Given the description of an element on the screen output the (x, y) to click on. 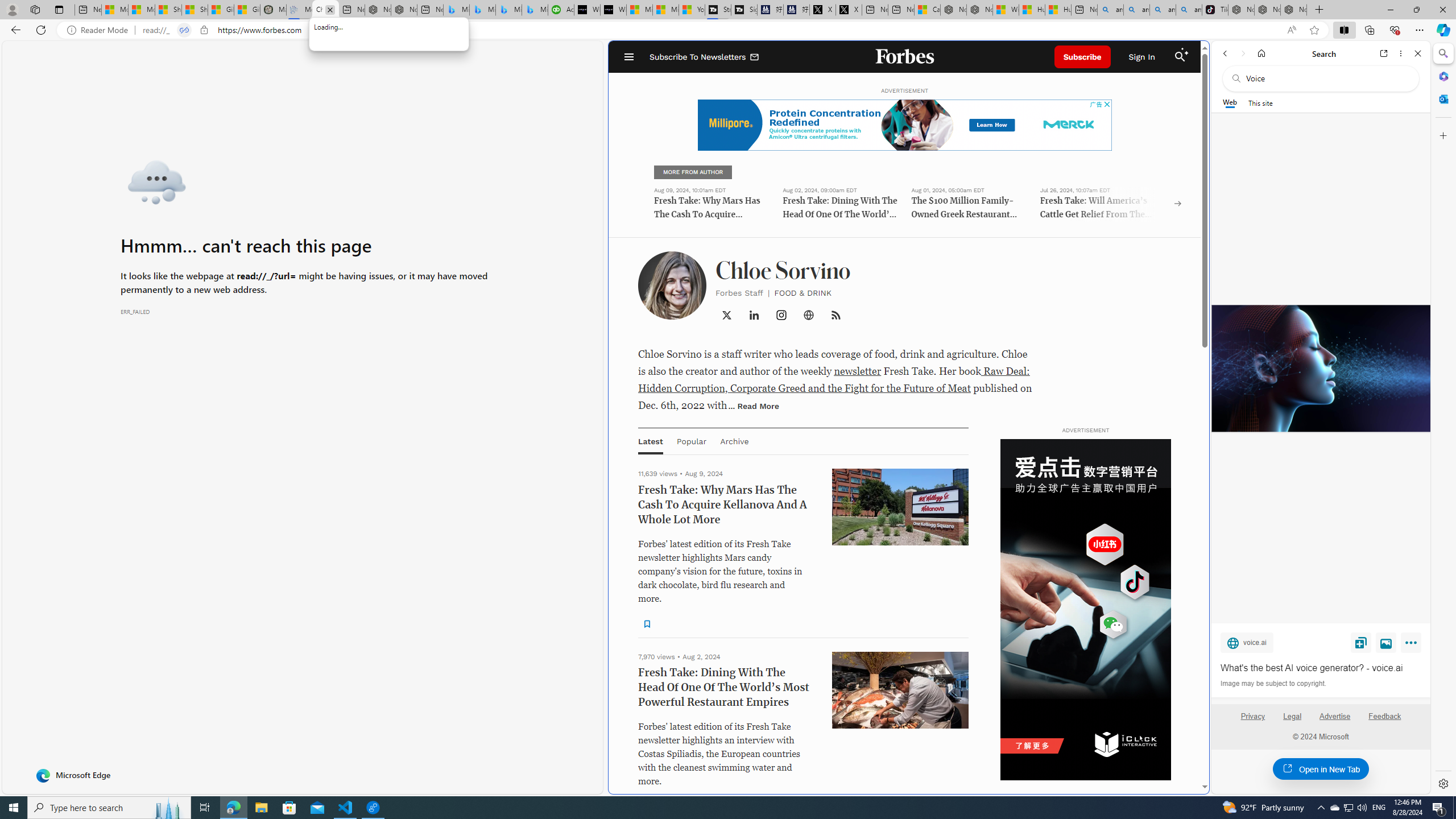
Advertise (1334, 720)
Class: VGJkz (835, 314)
Privacy (1252, 715)
Legal (1292, 720)
Tabs in split screen (184, 29)
Manatee Mortality Statistics | FWC (272, 9)
Class: envelope_svg__fs-icon envelope_svg__fs-icon--envelope (754, 57)
